Given the description of an element on the screen output the (x, y) to click on. 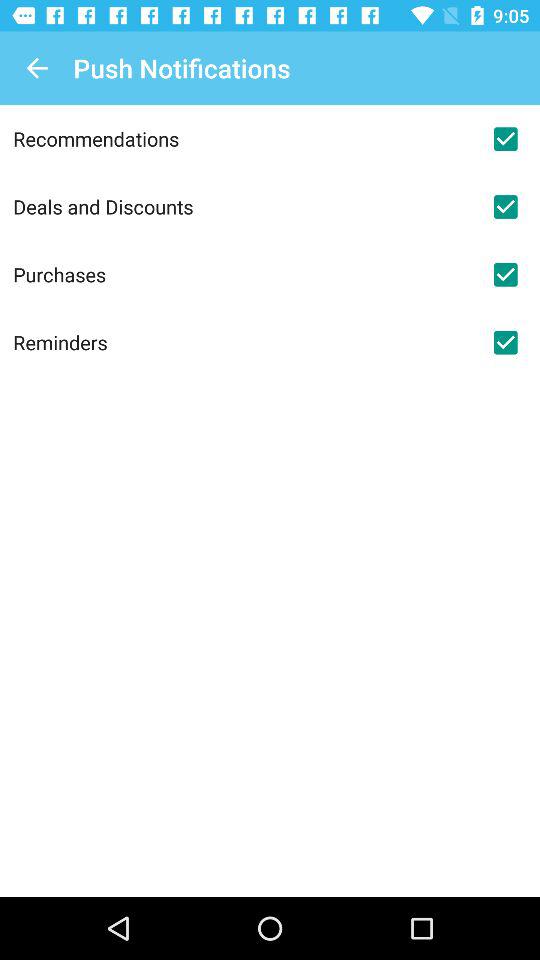
flip to the deals and discounts (242, 206)
